Given the description of an element on the screen output the (x, y) to click on. 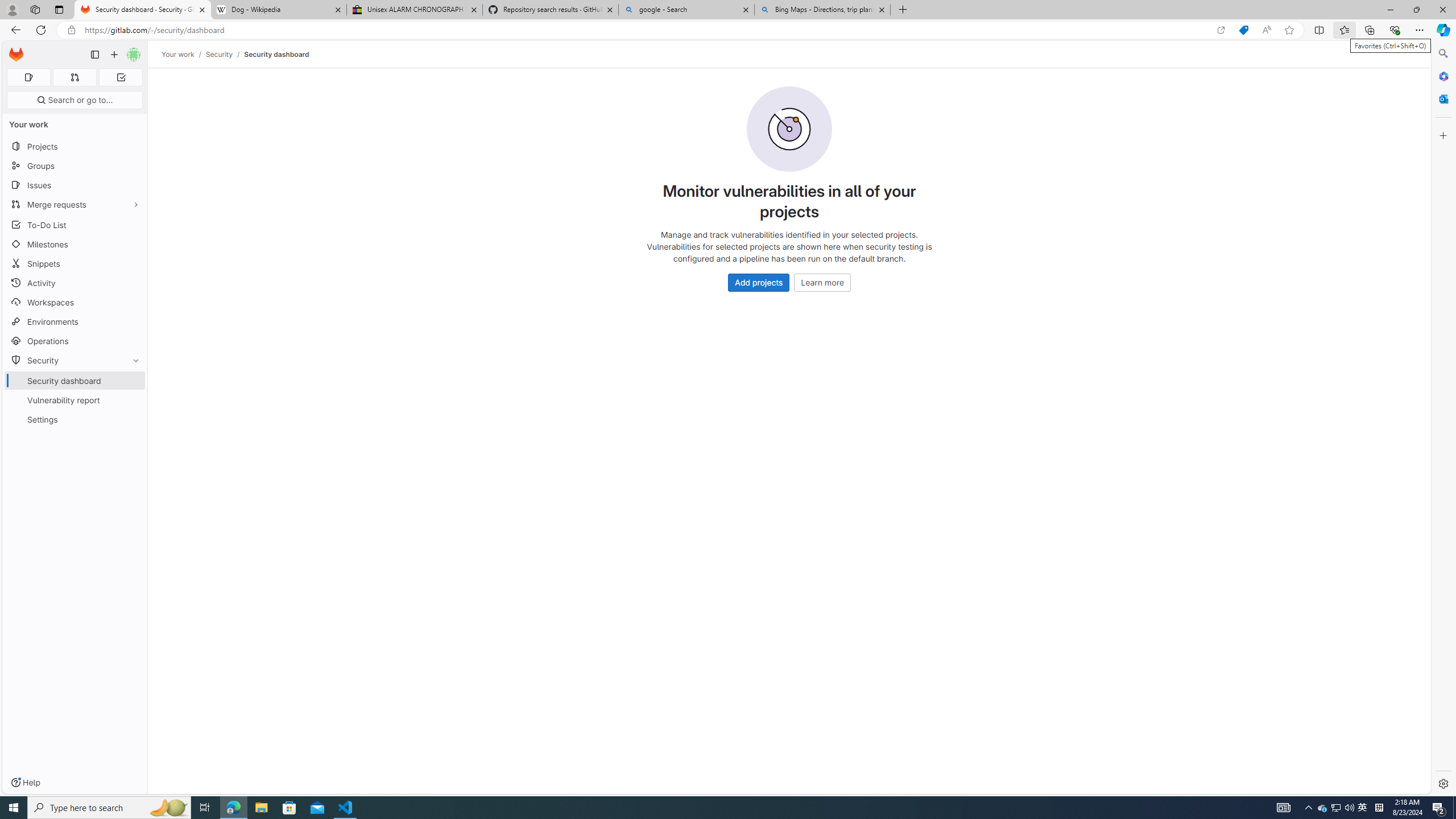
To-Do List (74, 224)
Security (74, 359)
Open in app (1220, 29)
Activity (74, 282)
Primary navigation sidebar (94, 54)
Merge requests 0 (74, 76)
To-Do List (74, 224)
Your work/ (183, 53)
